Given the description of an element on the screen output the (x, y) to click on. 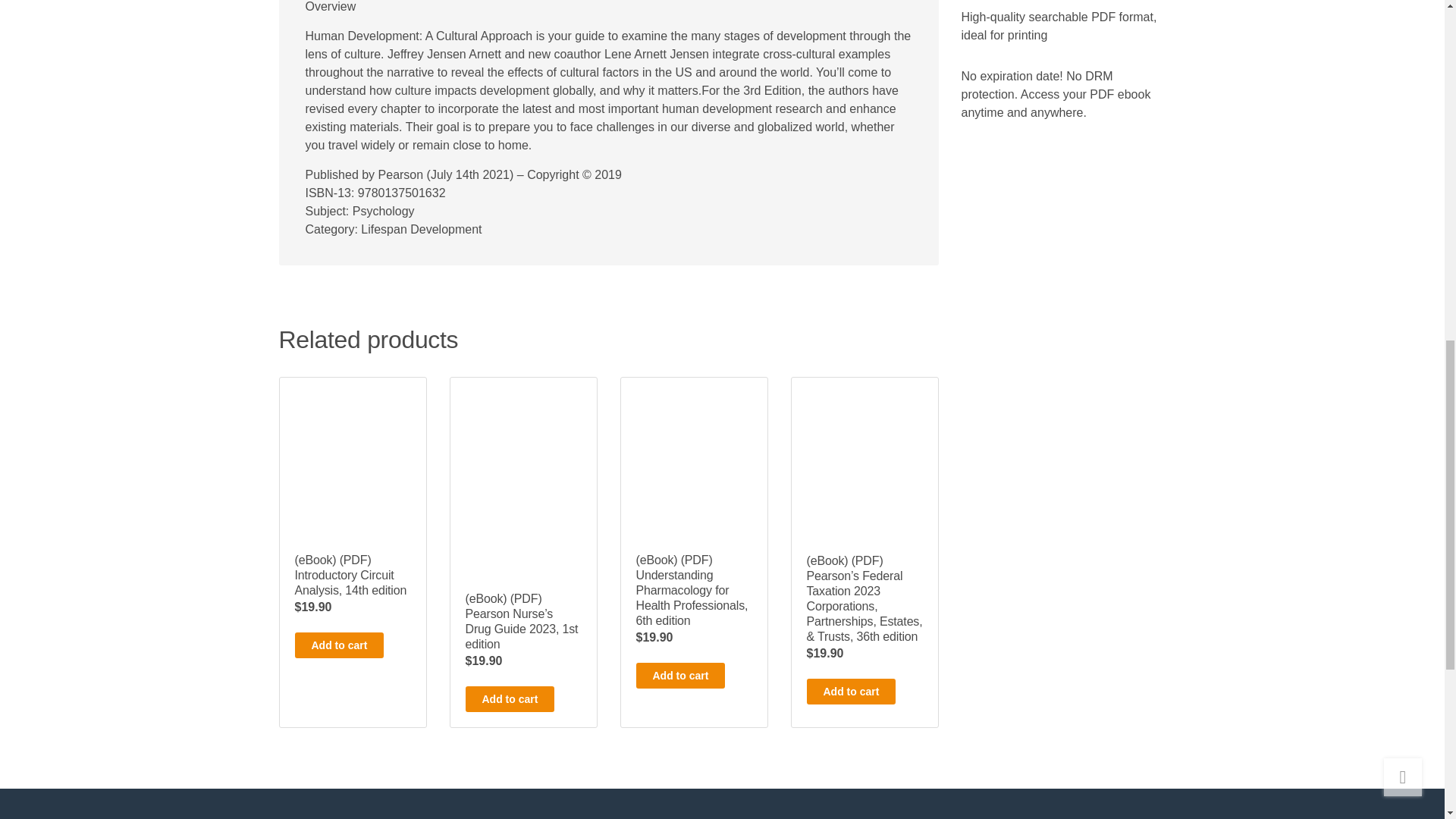
Add to cart (851, 691)
Add to cart (679, 675)
Add to cart (339, 645)
Add to cart (509, 698)
